Given the description of an element on the screen output the (x, y) to click on. 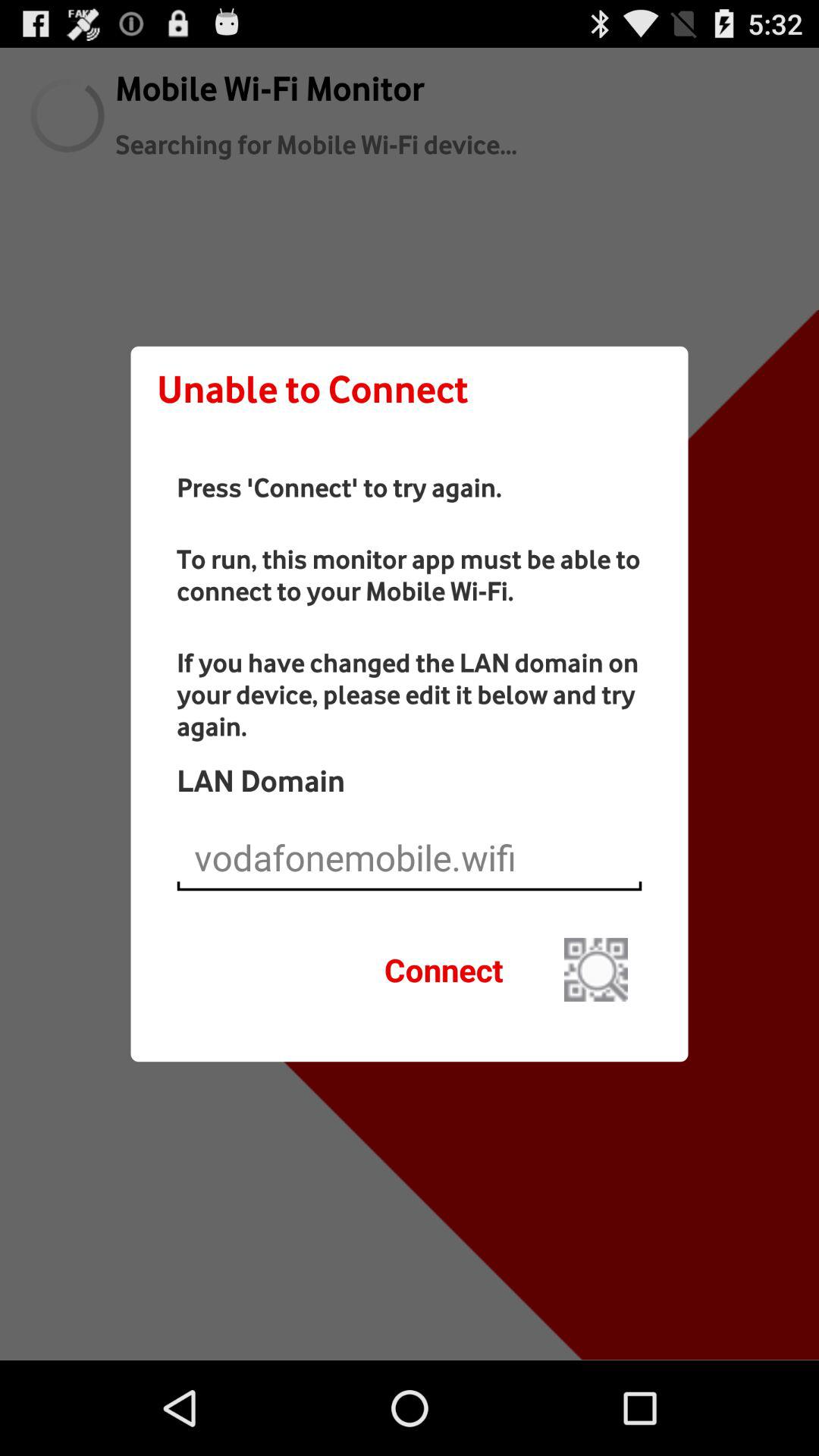
tap the item on the right (595, 969)
